Given the description of an element on the screen output the (x, y) to click on. 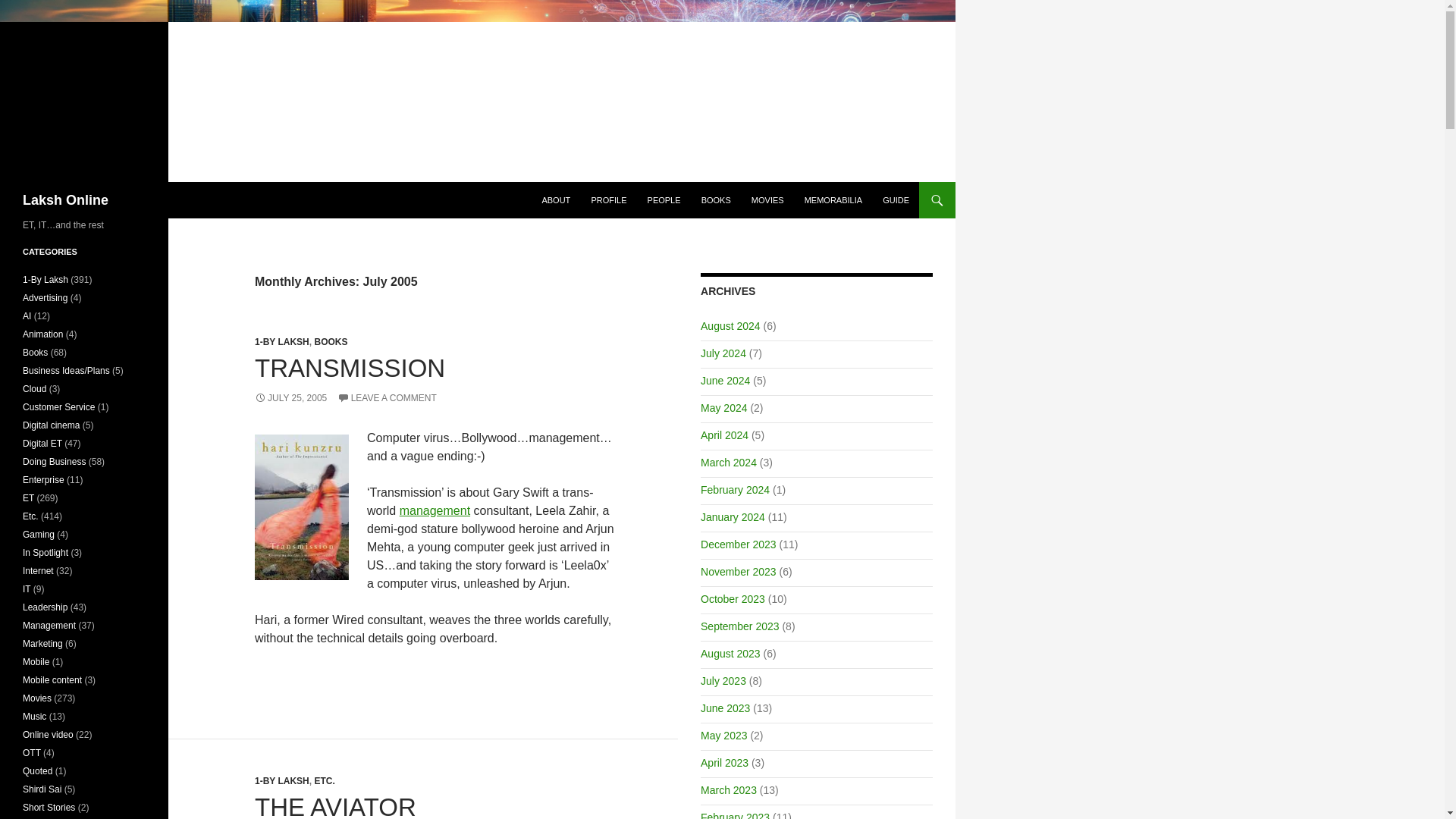
PEOPLE (664, 199)
MOVIES (767, 199)
BOOKS (330, 341)
Laksh Online (65, 199)
August 2024 (730, 326)
1-BY LAKSH (281, 780)
July 2024 (722, 353)
THE AVIATOR (335, 806)
management (434, 510)
